Given the description of an element on the screen output the (x, y) to click on. 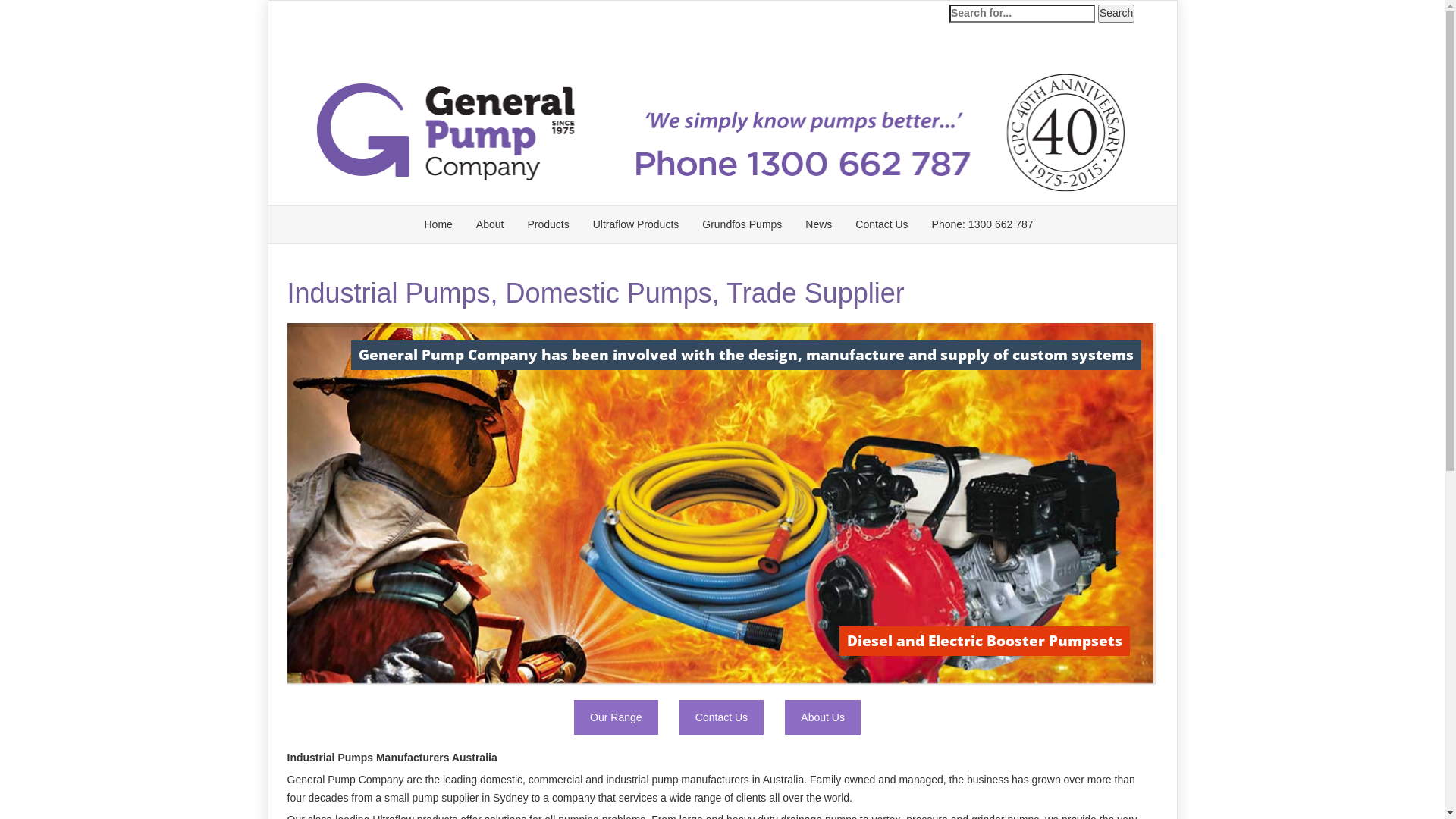
Our Range Element type: text (615, 716)
Grundfos Pumps Element type: text (741, 224)
Search Element type: text (1116, 13)
Ultraflow Products Element type: text (635, 224)
About Element type: text (490, 224)
News Element type: text (818, 224)
Products Element type: text (547, 224)
Contact Us Element type: text (721, 716)
Home Element type: text (437, 224)
Phone: 1300 662 787 Element type: text (982, 224)
Contact Us Element type: text (881, 224)
Search for... Element type: hover (1022, 13)
About Us Element type: text (822, 716)
